Given the description of an element on the screen output the (x, y) to click on. 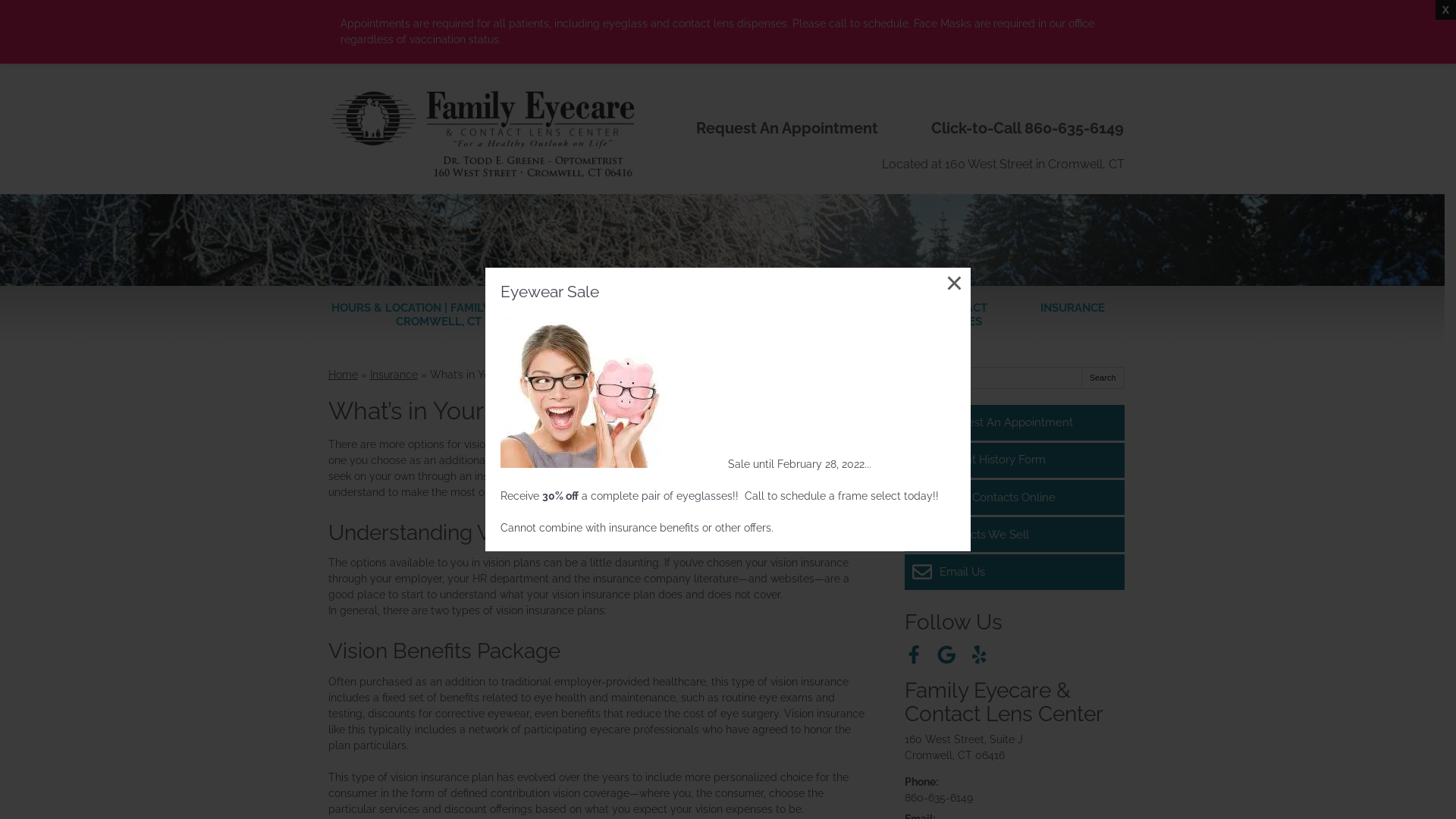
EYE CARE SERVICES Element type: text (725, 314)
Click-to-Call 860-635-6149 Element type: text (1027, 128)
Located at 160 West Street in Cromwell, CT Element type: text (1002, 163)
Products We Sell Element type: text (1013, 534)
CONTACT LENSES Element type: text (960, 314)
HOURS & LOCATION | FAMILY EYE CARE CROMWELL, CT Element type: text (437, 314)
Request An Appointment Element type: text (786, 128)
INSURANCE Element type: text (1072, 307)
Home Element type: text (342, 374)
Search Element type: text (1102, 378)
Patient History Form Element type: text (1013, 459)
Request An Appointment Element type: text (1013, 421)
ABOUT US Element type: text (616, 314)
EYEGLASSES Element type: text (845, 307)
Family Eyecare & Contact Lens Center Element type: text (1002, 701)
860-635-6149 Element type: text (937, 797)
Insurance Element type: text (393, 374)
Email Us Element type: text (1013, 571)
Order Contacts Online Element type: text (1013, 497)
